Given the description of an element on the screen output the (x, y) to click on. 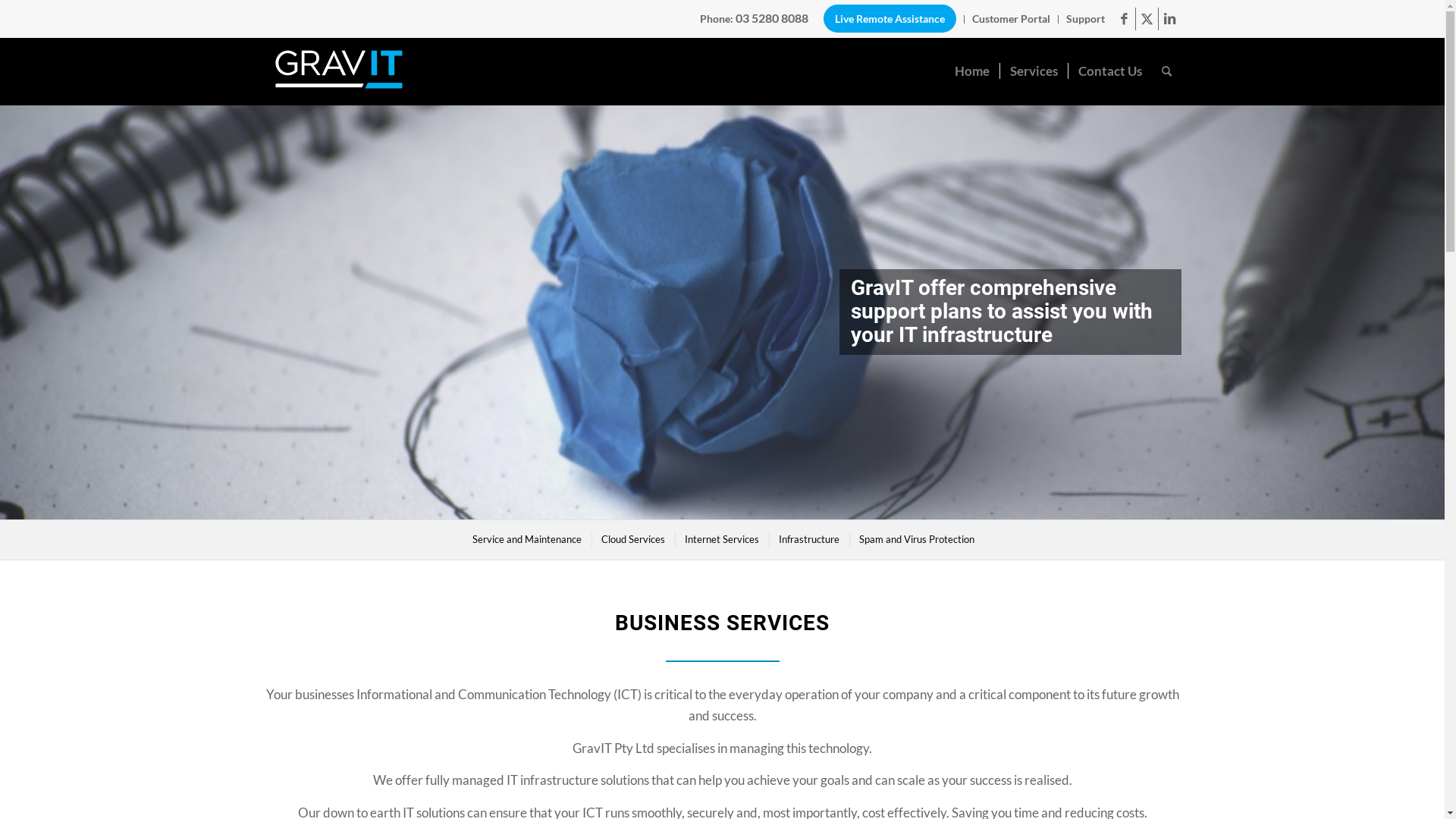
GravIT-logo-enfold_Optimised Element type: hover (337, 71)
Service and Maintenance Element type: text (525, 539)
Home Element type: text (971, 71)
Cloud Services Element type: text (631, 539)
Spam and Virus Protection Element type: text (915, 539)
Services Element type: text (1033, 71)
Customer Portal Element type: text (1011, 18)
Facebook Element type: hover (1124, 18)
Twitter Element type: hover (1146, 18)
03 5280 8088 Element type: text (771, 17)
Support Element type: text (1085, 18)
Live Remote Assistance Element type: text (889, 18)
LinkedIn Element type: hover (1169, 18)
Infrastructure Element type: text (807, 539)
Internet Services Element type: text (720, 539)
Contact Us Element type: text (1109, 71)
